Given the description of an element on the screen output the (x, y) to click on. 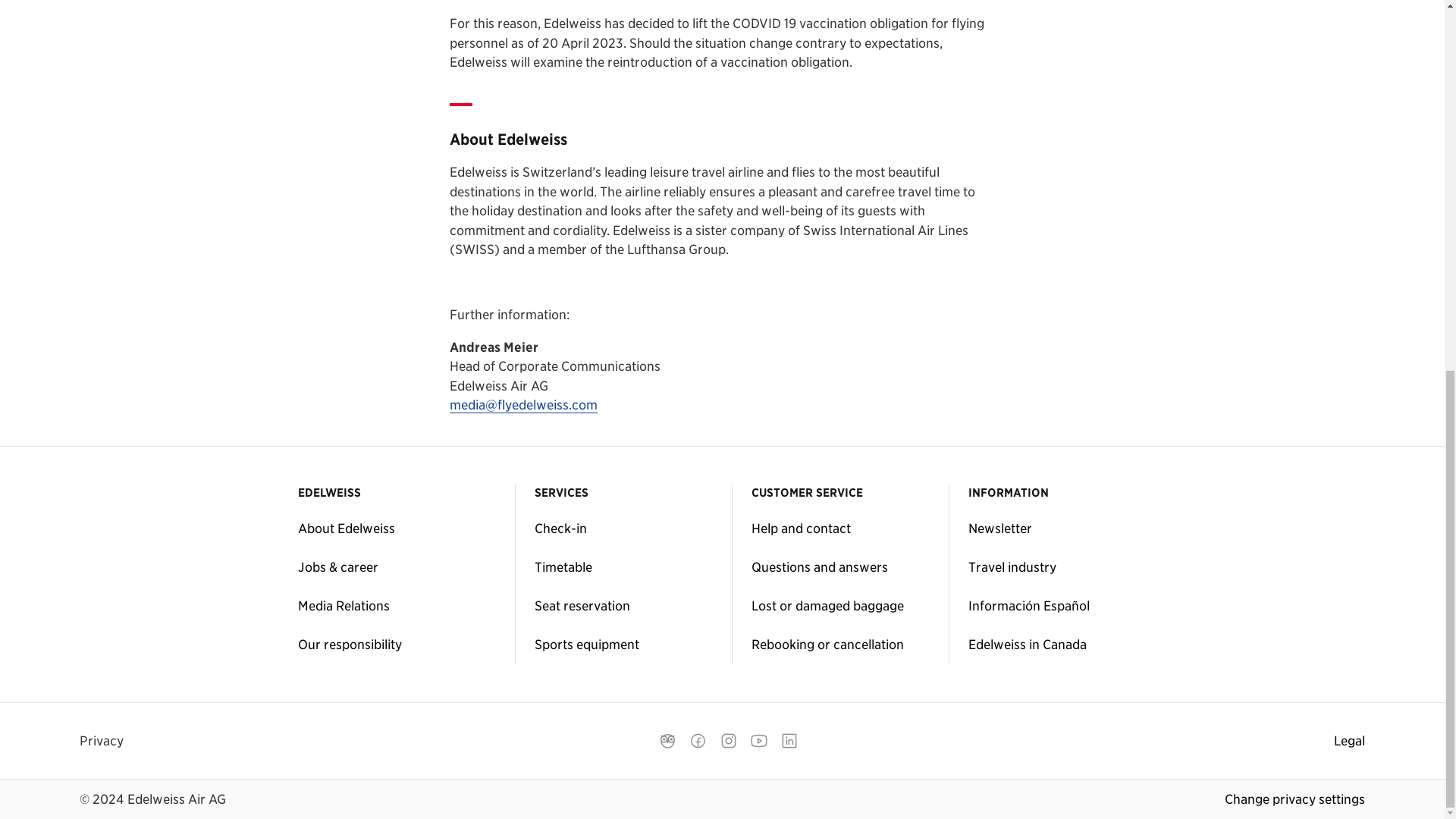
Change privacy settings (1294, 799)
Legal (1349, 741)
TripAdvisor (667, 740)
Facebook (697, 740)
Youtube (759, 740)
Linkedin (789, 740)
Instagram (728, 740)
